Given the description of an element on the screen output the (x, y) to click on. 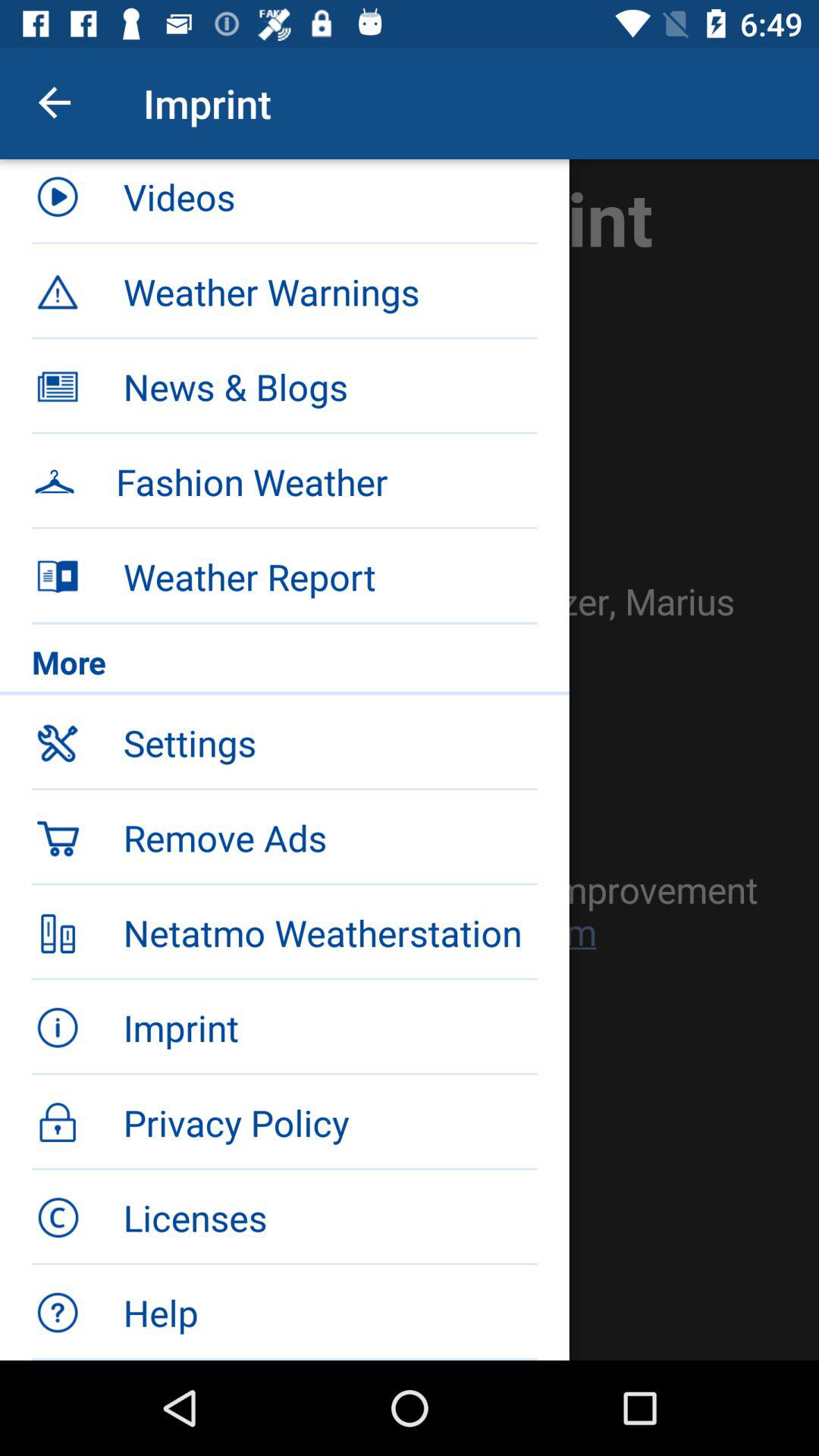
open the weather warnings icon (330, 291)
